Given the description of an element on the screen output the (x, y) to click on. 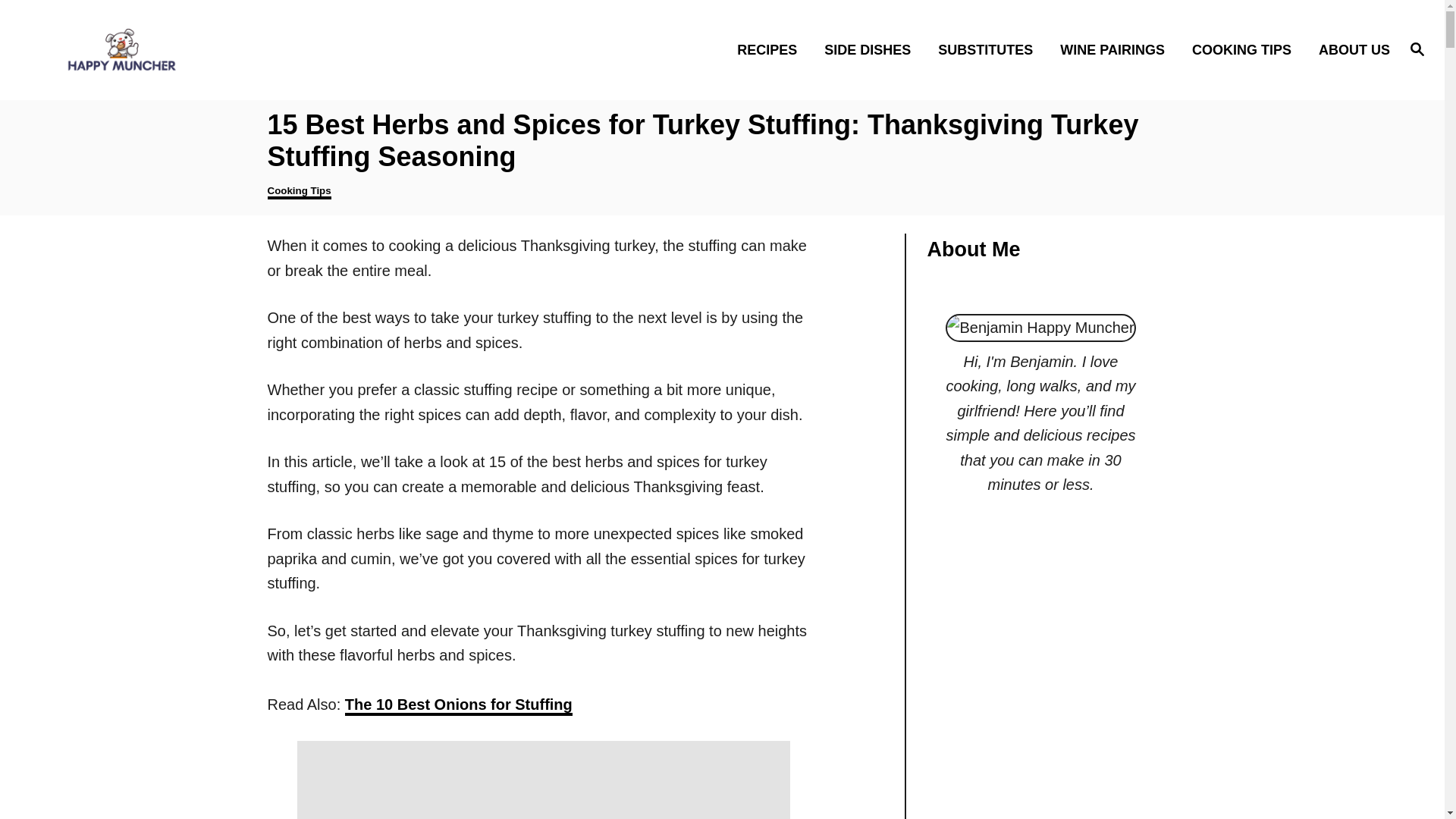
COOKING TIPS (1245, 49)
ABOUT US (1349, 49)
Cooking Tips (298, 192)
RECIPES (771, 49)
SIDE DISHES (871, 49)
The 10 Best Onions for Stuffing (458, 705)
SUBSTITUTES (989, 49)
Magnifying Glass (1416, 48)
Happy Muncher (204, 49)
WINE PAIRINGS (1116, 49)
